Given the description of an element on the screen output the (x, y) to click on. 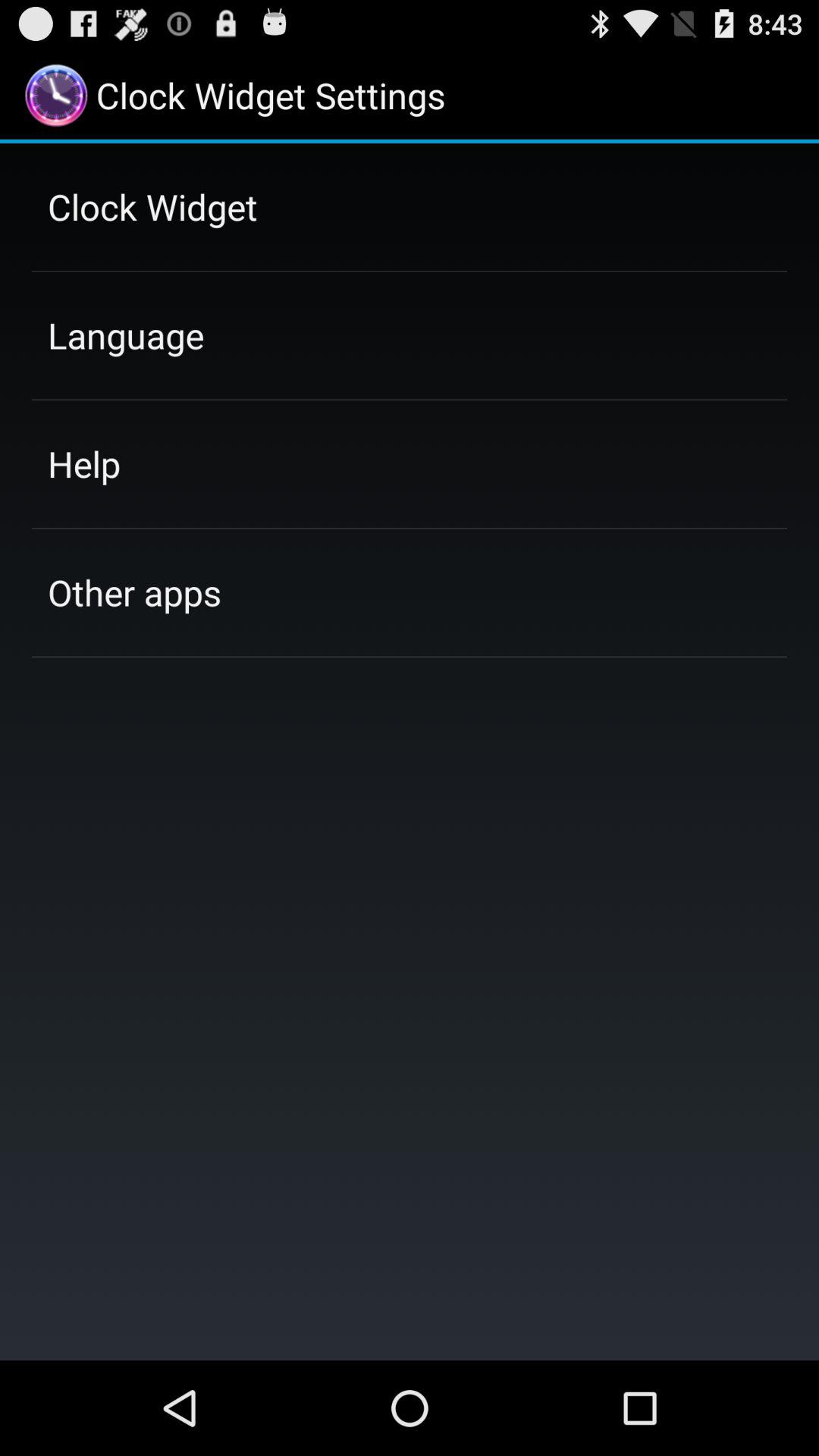
turn on the app on the left (134, 592)
